Given the description of an element on the screen output the (x, y) to click on. 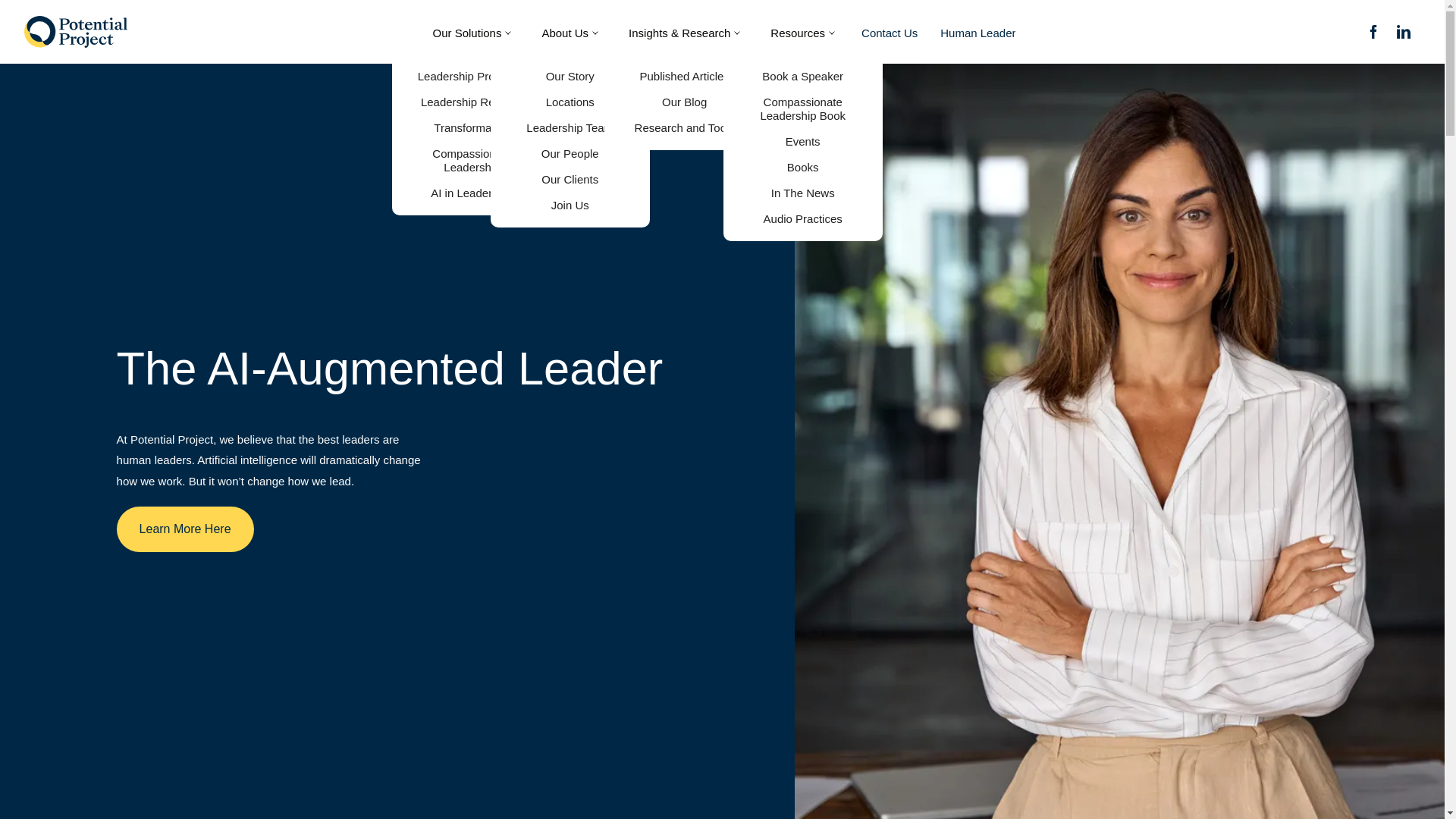
Published Articles (684, 76)
In The News (802, 193)
Our Blog (684, 102)
Book a Speaker (802, 76)
Contact Us (889, 32)
Our Solutions (472, 32)
Leadership Team (568, 127)
Resources (802, 32)
Audio Practices (802, 219)
Locations (570, 102)
